Given the description of an element on the screen output the (x, y) to click on. 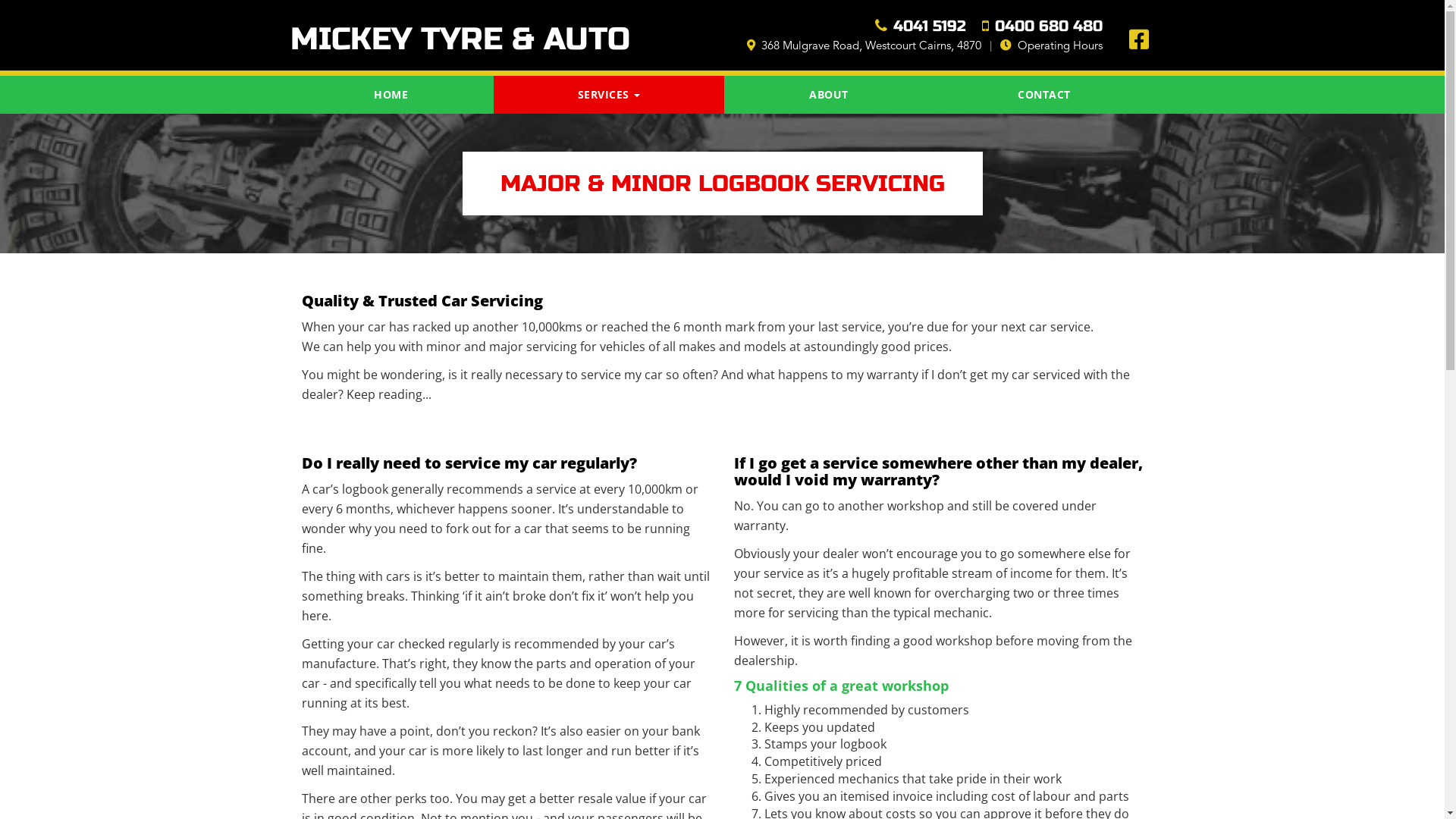
HOME Element type: text (390, 94)
368 Mulgrave Road, Westcourt Cairns, 4870 Element type: text (863, 45)
0400 680 480 Element type: text (1036, 23)
Operating Hours Element type: text (1050, 45)
4041 5192 Element type: text (913, 23)
MICKEY TYRE & AUTO Element type: text (464, 20)
SERVICES Element type: text (608, 94)
CONTACT Element type: text (1044, 94)
ABOUT Element type: text (828, 94)
